Given the description of an element on the screen output the (x, y) to click on. 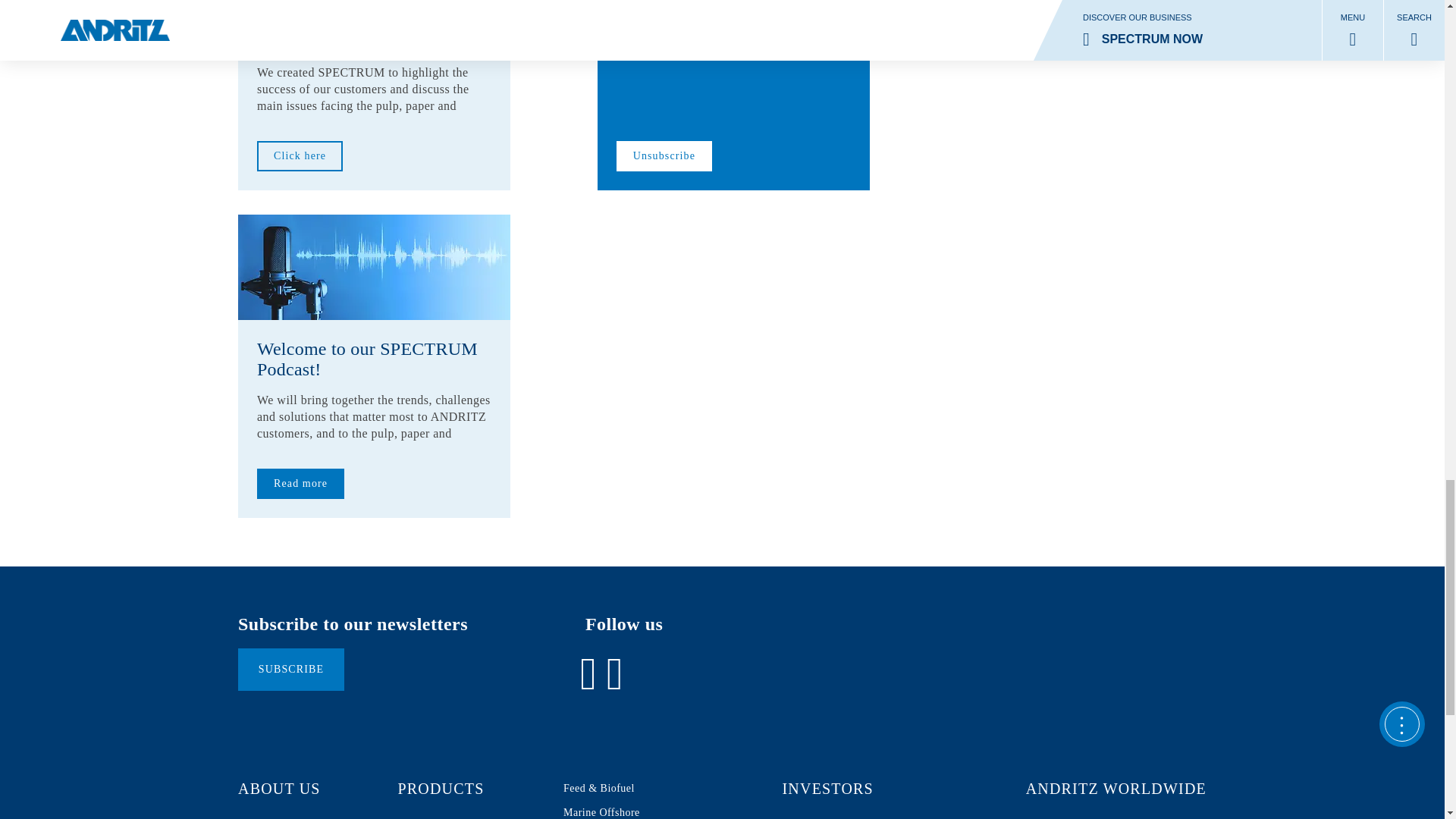
SUBSCRIBE (290, 669)
Unsubscribe from ANDRITZ SPECTRUM magazine (732, 56)
Click here (299, 155)
Unsubscribe (663, 155)
Read more (300, 483)
